Given the description of an element on the screen output the (x, y) to click on. 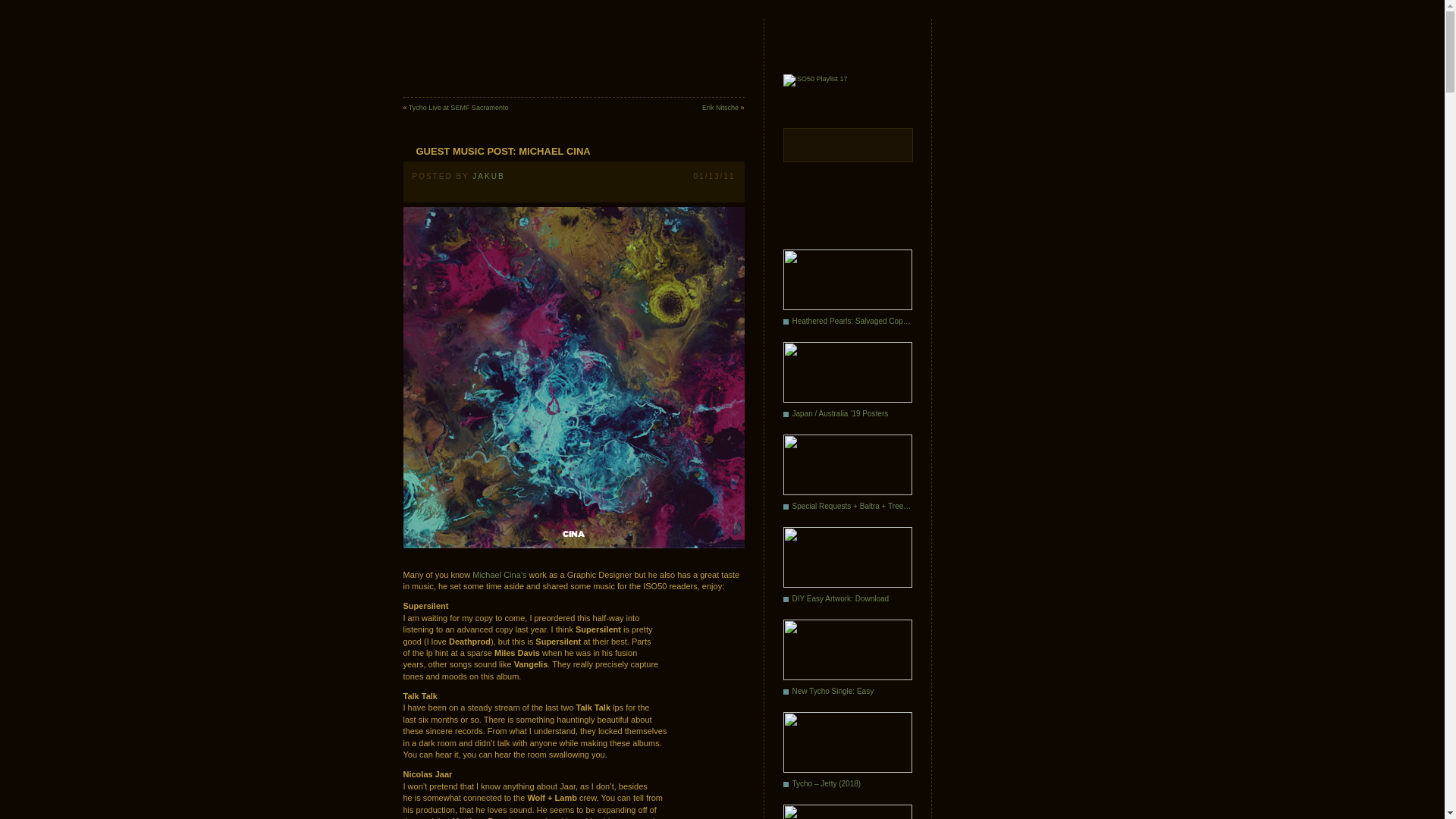
9:08 pm (714, 175)
Permalink to Guest Music Post: Michael Cina (497, 151)
Twitter (687, 79)
Search (847, 175)
Join (733, 79)
GUEST MUSIC POST: MICHAEL CINA (497, 151)
About (589, 79)
JAKUB (487, 175)
cina (573, 377)
Portfolio (426, 79)
